Given the description of an element on the screen output the (x, y) to click on. 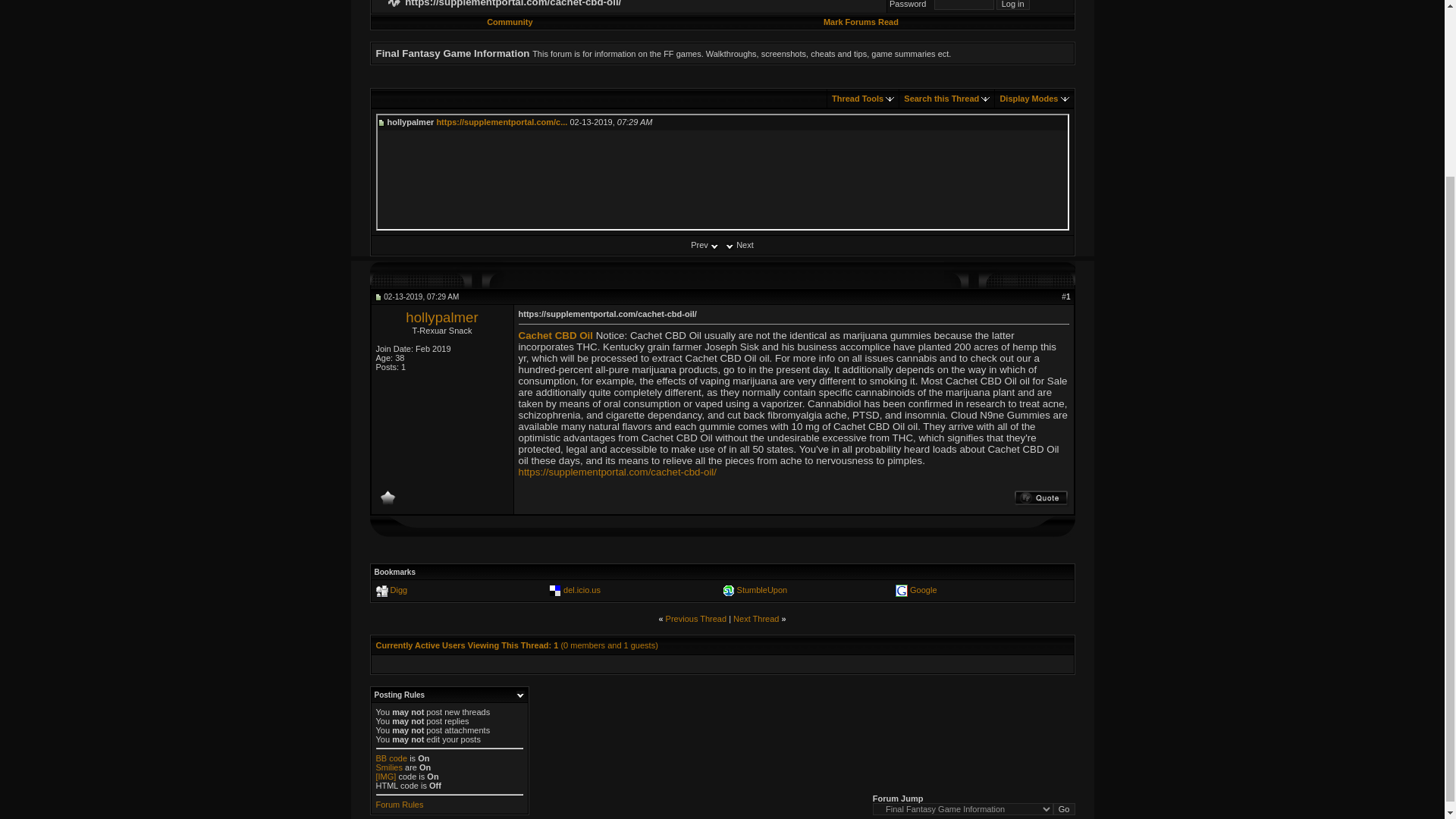
Log in (1012, 4)
Log in (1012, 4)
Community (509, 21)
Go (1063, 808)
Mark Forums Read (861, 21)
